Given the description of an element on the screen output the (x, y) to click on. 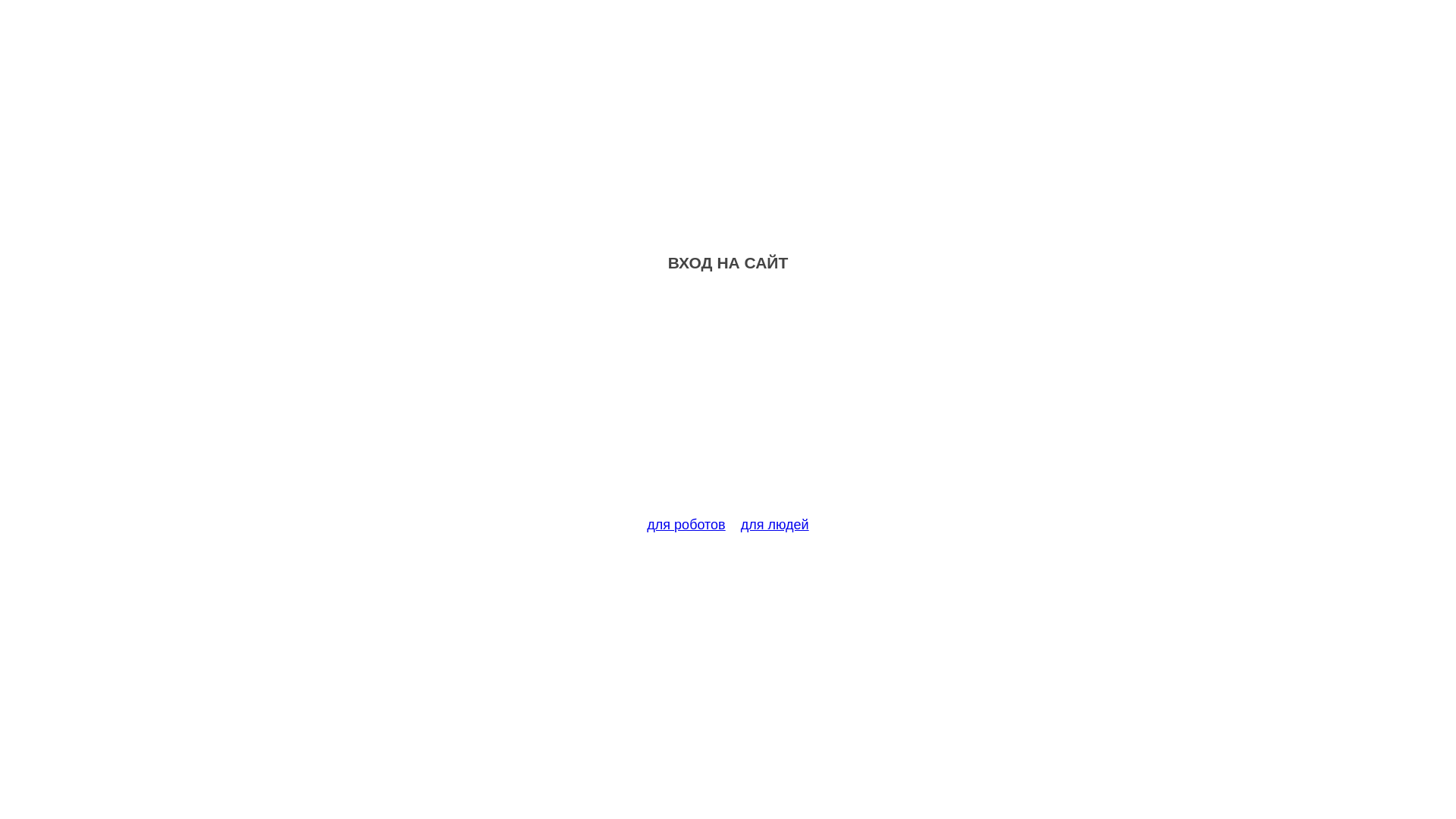
Advertisement Element type: hover (727, 403)
